Given the description of an element on the screen output the (x, y) to click on. 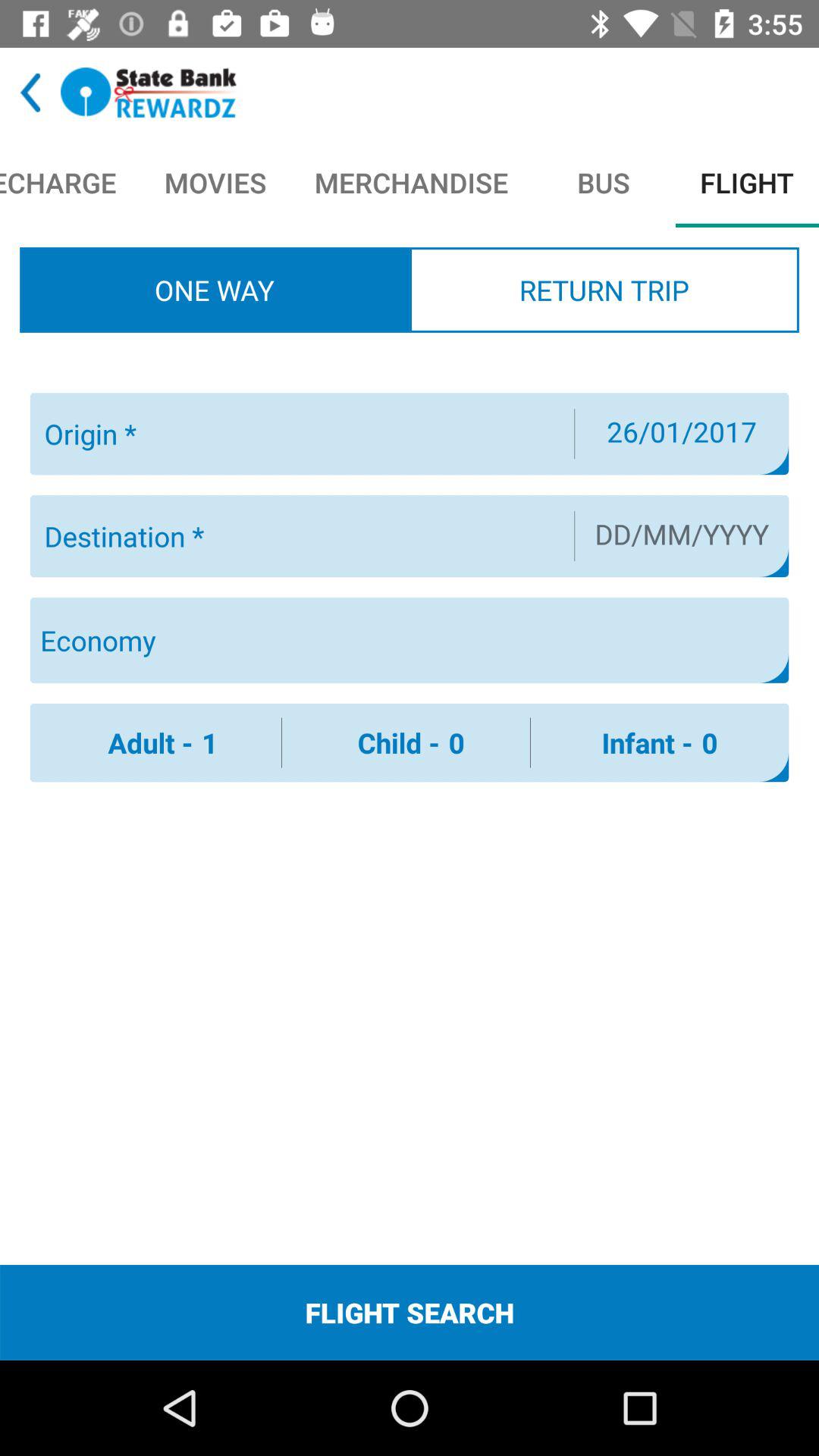
origin textbox (300, 433)
